Given the description of an element on the screen output the (x, y) to click on. 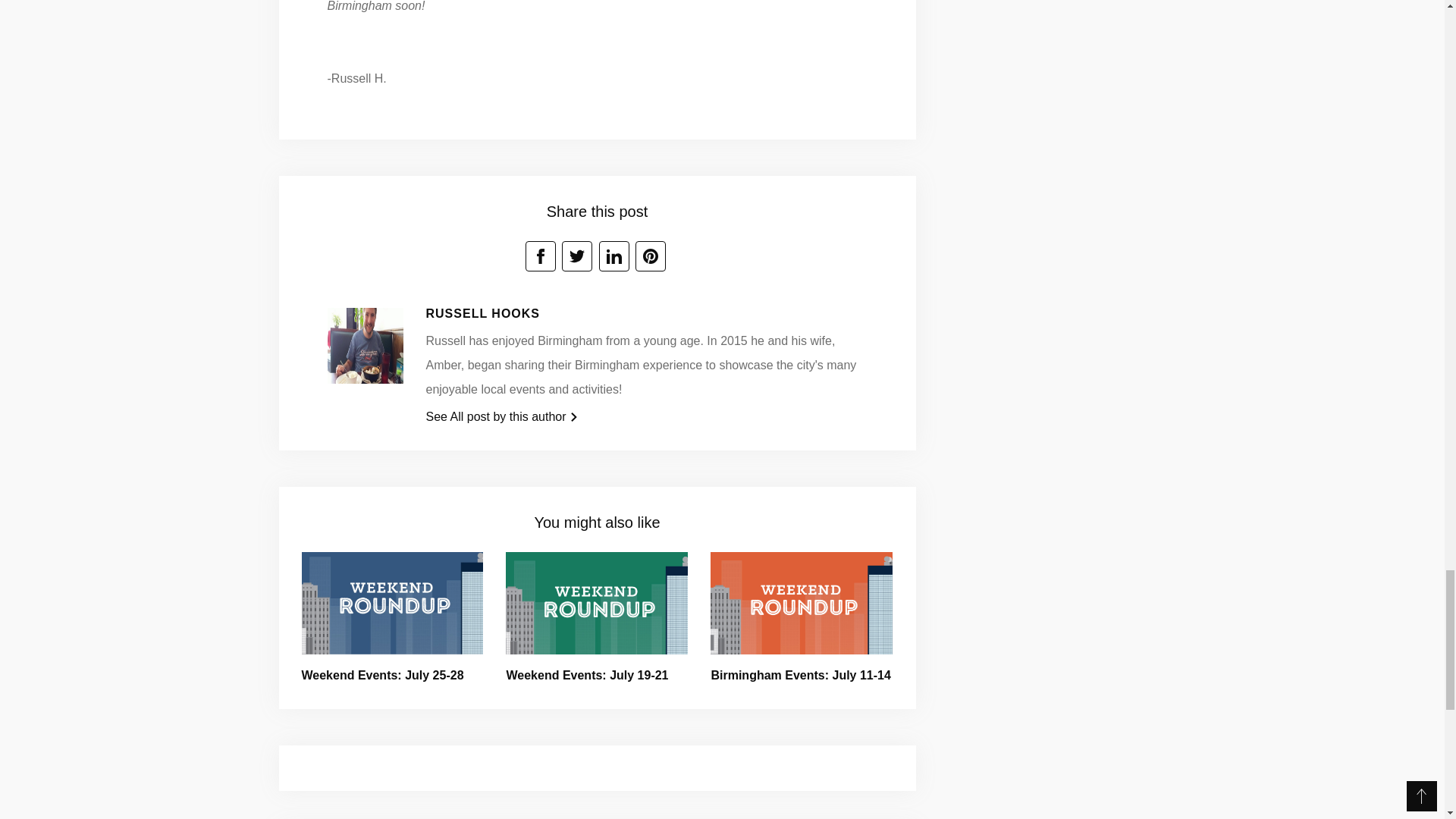
Share on Linkedin (613, 255)
Russell Hooks  (365, 350)
Weekend Events: July 19-21 (586, 675)
RUSSELL HOOKS (483, 313)
Share on Pinterest (649, 255)
Birmingham Events: July 11-14 (799, 675)
See All post by this author (502, 416)
Share on Facebook (540, 255)
Weekend Events: July 25-28 (382, 675)
Share on Twitter (577, 255)
